Given the description of an element on the screen output the (x, y) to click on. 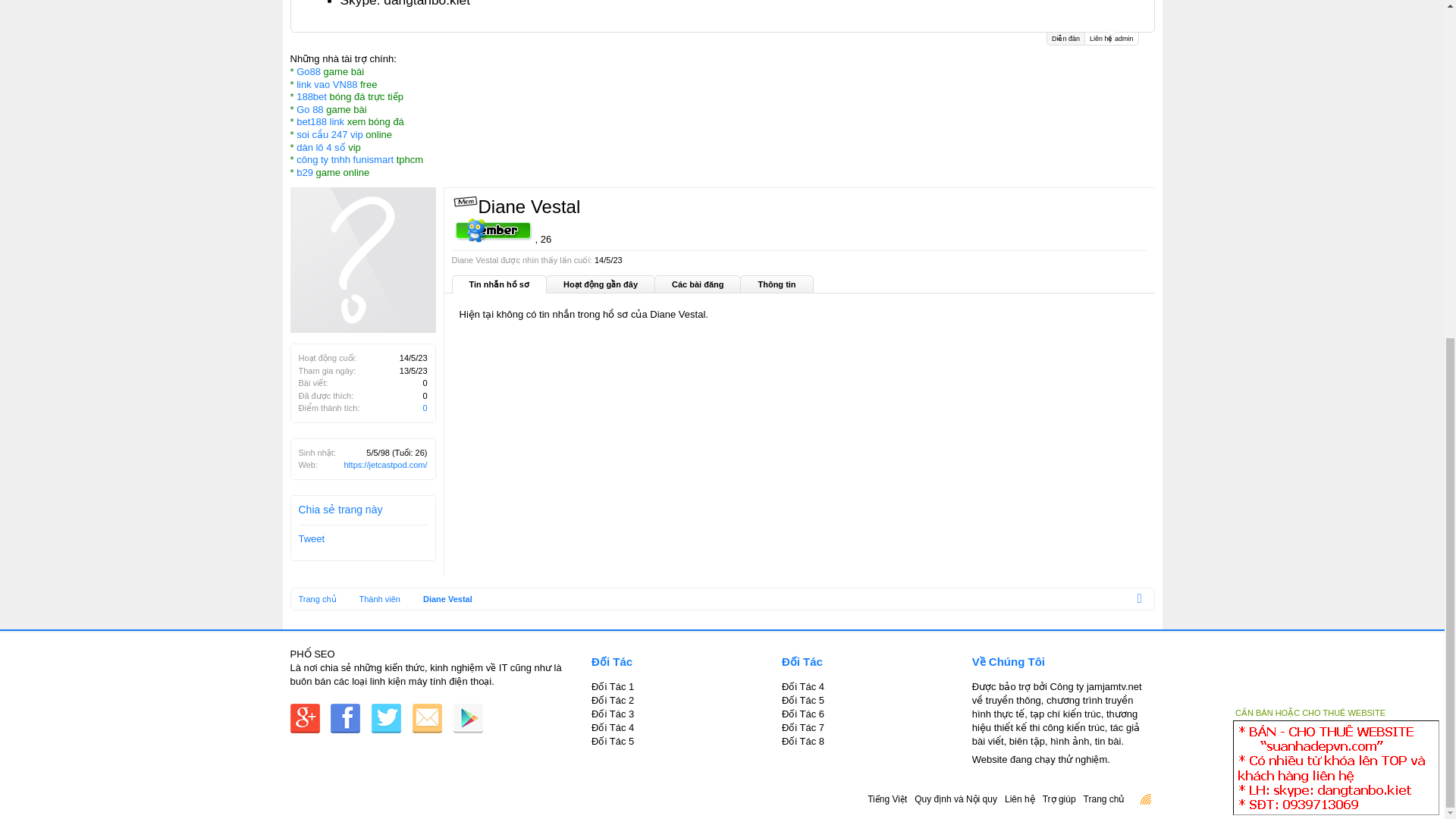
link vao VN88 (326, 84)
bet188 link (320, 121)
Go88 (308, 71)
Tweet (311, 538)
b29 (305, 172)
b29 (305, 172)
Go 88 (310, 109)
Go88 (308, 71)
188bet (311, 96)
bet188 link (320, 121)
